Given the description of an element on the screen output the (x, y) to click on. 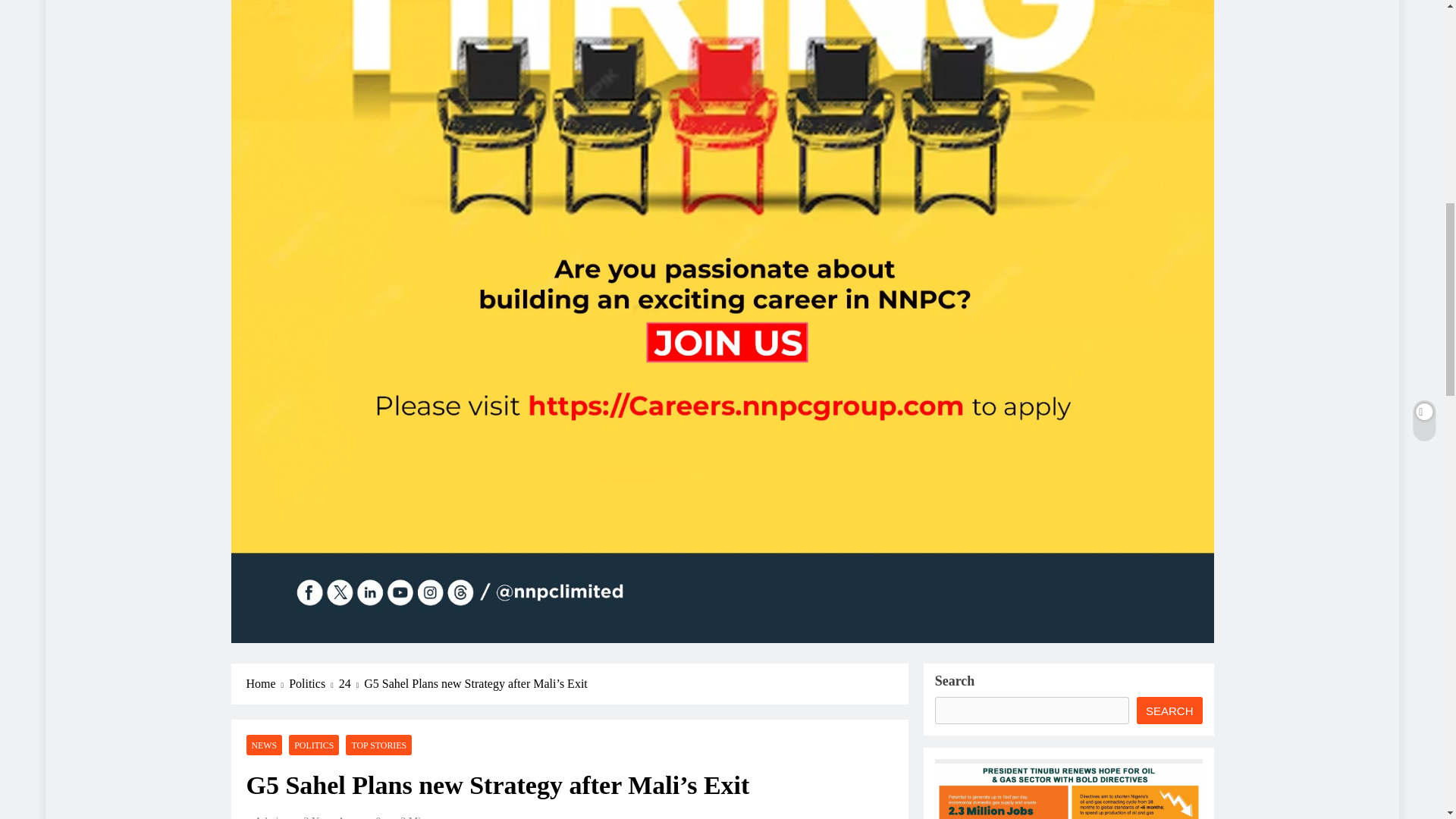
24 (352, 683)
2 Years Ago (330, 817)
NEWS (264, 744)
Admin (264, 817)
Politics (313, 683)
POLITICS (313, 744)
Home (267, 683)
TOP STORIES (379, 744)
